Given the description of an element on the screen output the (x, y) to click on. 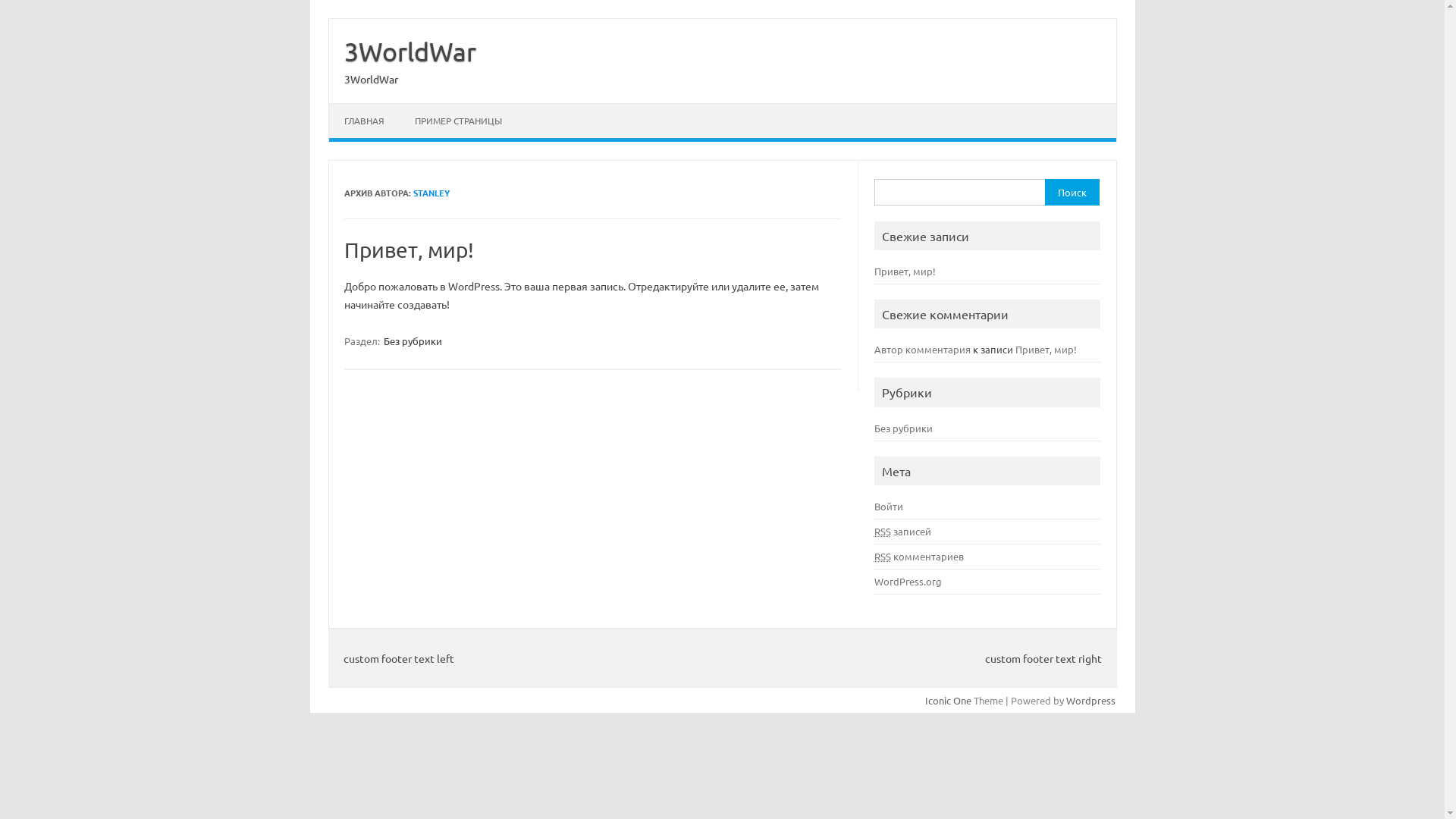
3WorldWar Element type: text (371, 78)
Wordpress Element type: text (1090, 699)
WordPress.org Element type: text (907, 580)
STANLEY Element type: text (431, 192)
3WorldWar Element type: text (410, 51)
Iconic One Element type: text (948, 699)
